Given the description of an element on the screen output the (x, y) to click on. 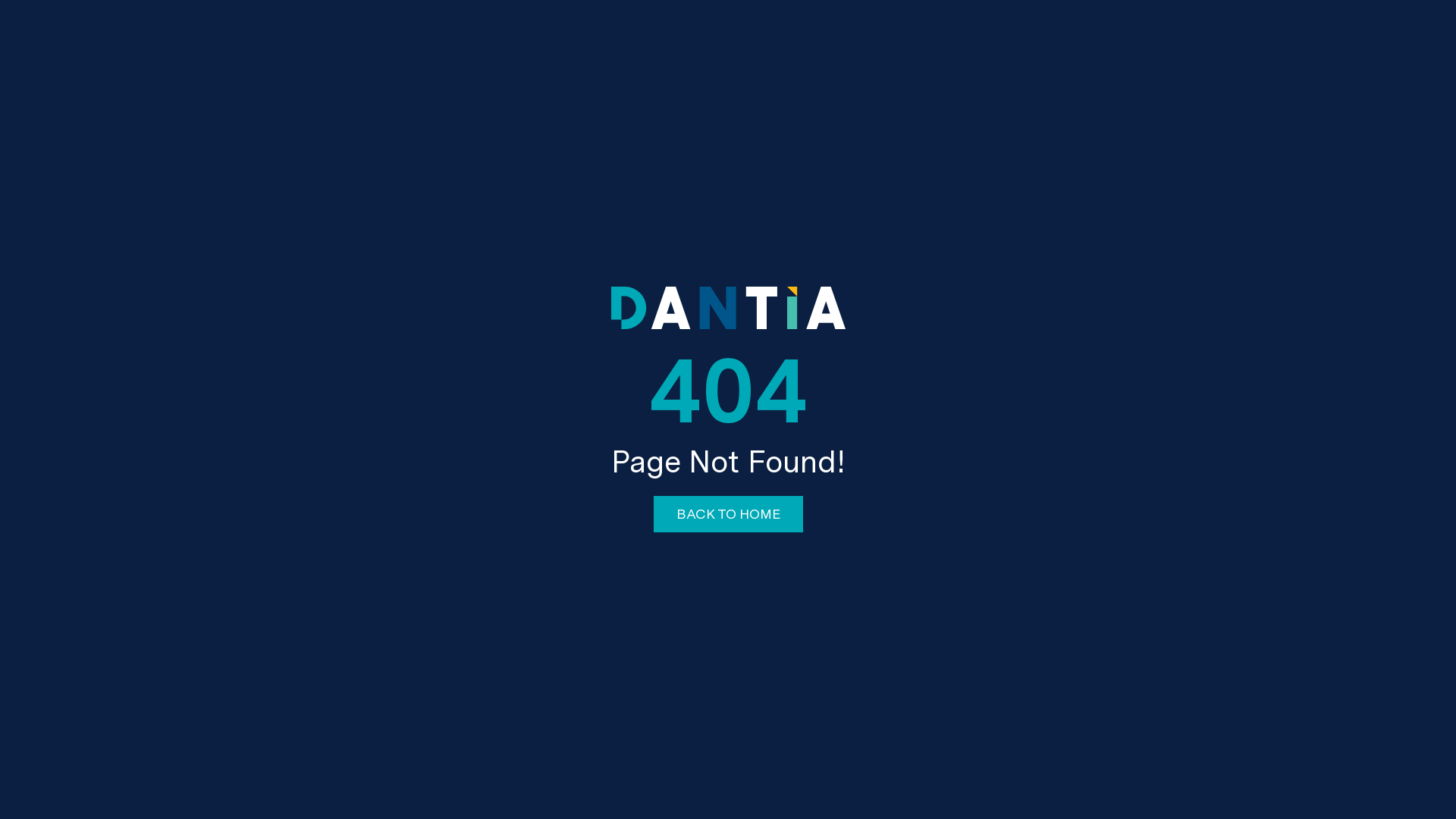
Dantia Element type: hover (728, 292)
BACK TO HOME Element type: text (728, 513)
